Given the description of an element on the screen output the (x, y) to click on. 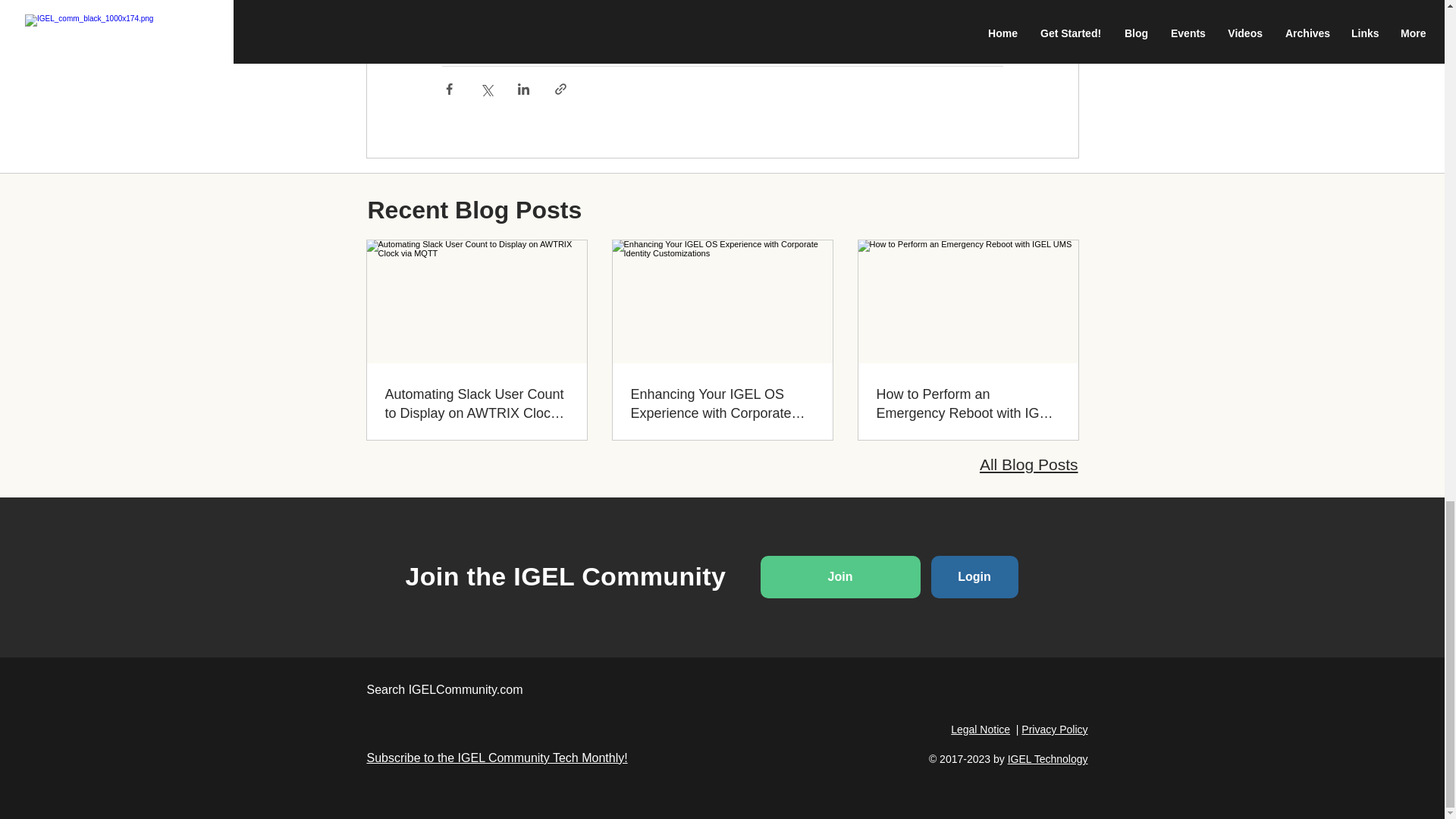
IGEL Community News (505, 31)
